Given the description of an element on the screen output the (x, y) to click on. 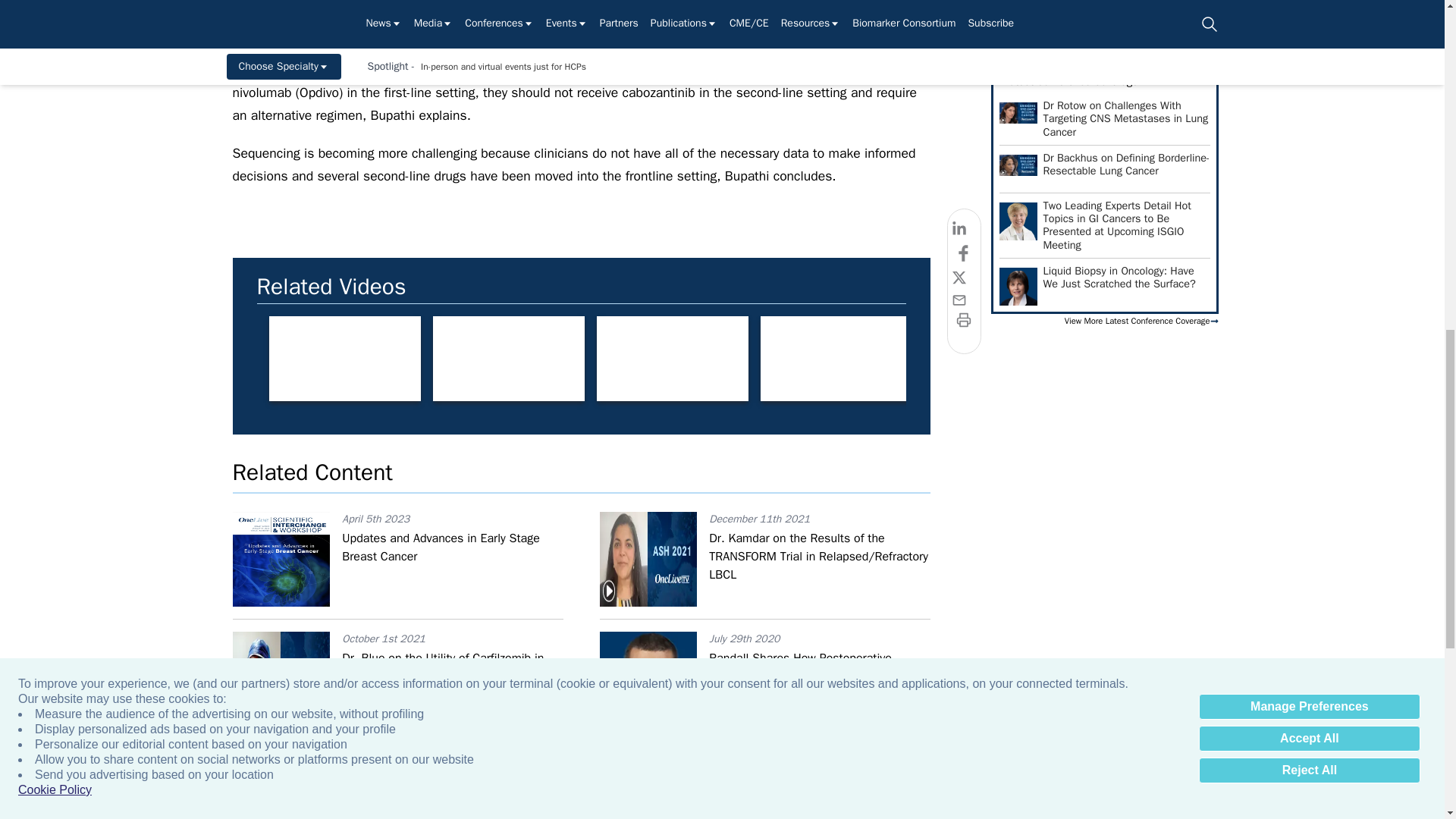
Antonio Martin Jimenez Jimenez, MD (835, 359)
Robert Uzzo, MD, MBA, FACS (1326, 359)
Stephen Opat, MBBS (1163, 359)
Anita Rijneveld, MD, Erasmus MC Cancer Institute (507, 359)
